Given the description of an element on the screen output the (x, y) to click on. 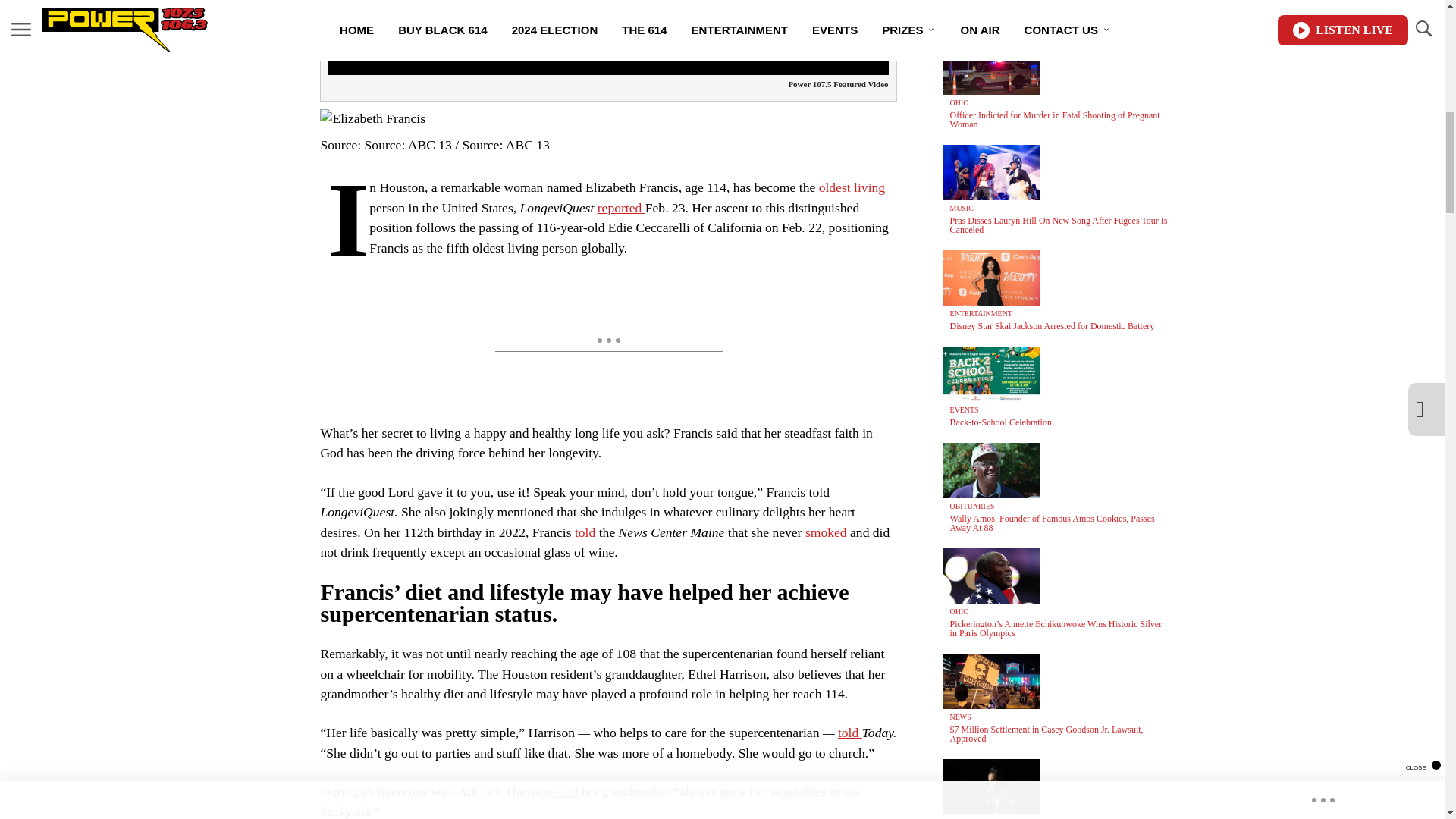
told (849, 732)
smoked (826, 531)
said (565, 791)
oldest living (851, 186)
told (586, 531)
reported (620, 207)
